Given the description of an element on the screen output the (x, y) to click on. 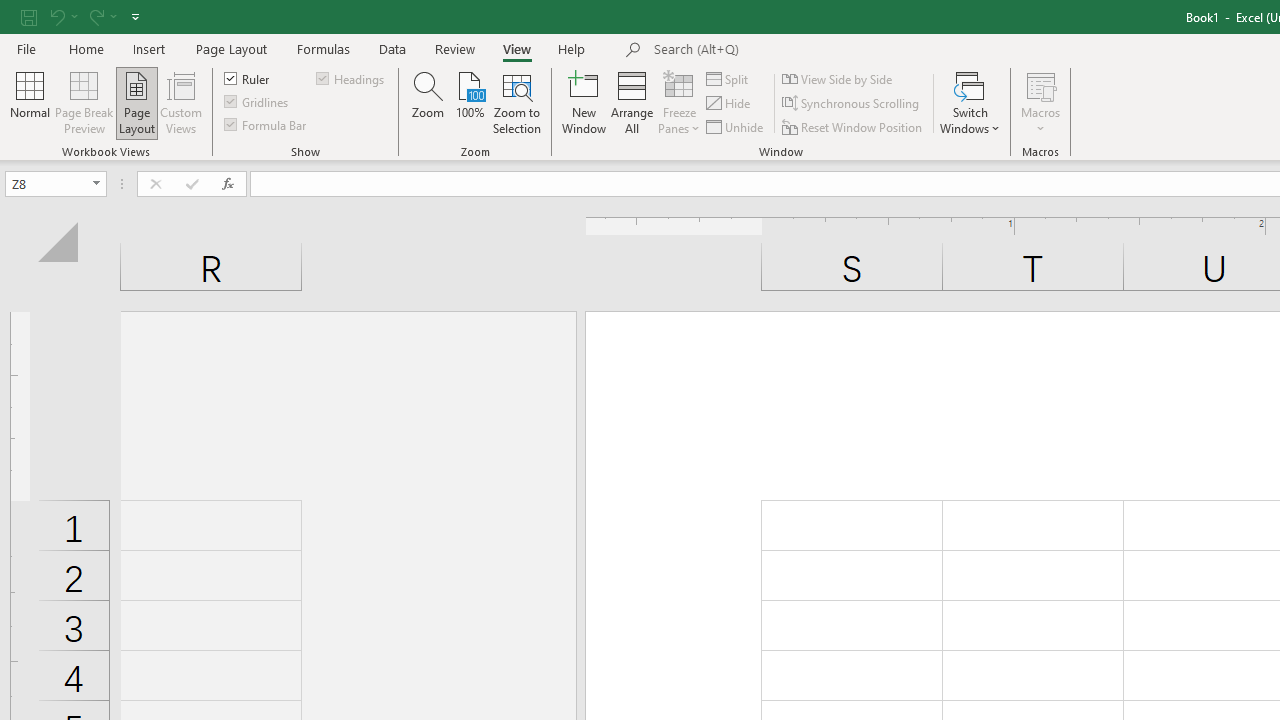
Custom Views... (180, 102)
View Side by Side (838, 78)
100% (470, 102)
Synchronous Scrolling (852, 103)
Hide (729, 103)
Unhide... (736, 126)
